Given the description of an element on the screen output the (x, y) to click on. 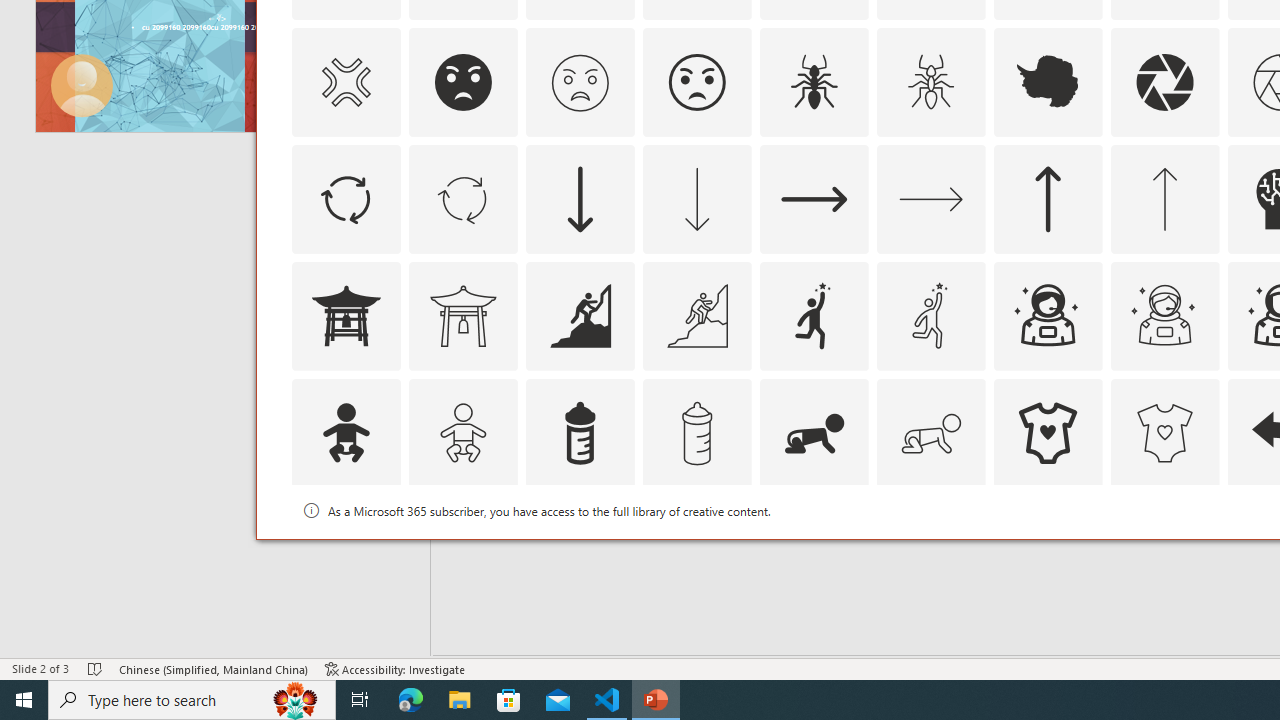
AutomationID: Icons_ArrowDown (579, 198)
AutomationID: Icons_Aspiration (579, 316)
AutomationID: Icons_AstronautFemale (1048, 316)
AutomationID: Icons_AngryFace (463, 82)
AutomationID: Icons_Antarctica (1048, 82)
AutomationID: Icons_Ant (813, 82)
AutomationID: Icons_AstronautFemale_M (1164, 316)
AutomationID: Icons_BabyCrawling_M (930, 432)
